Given the description of an element on the screen output the (x, y) to click on. 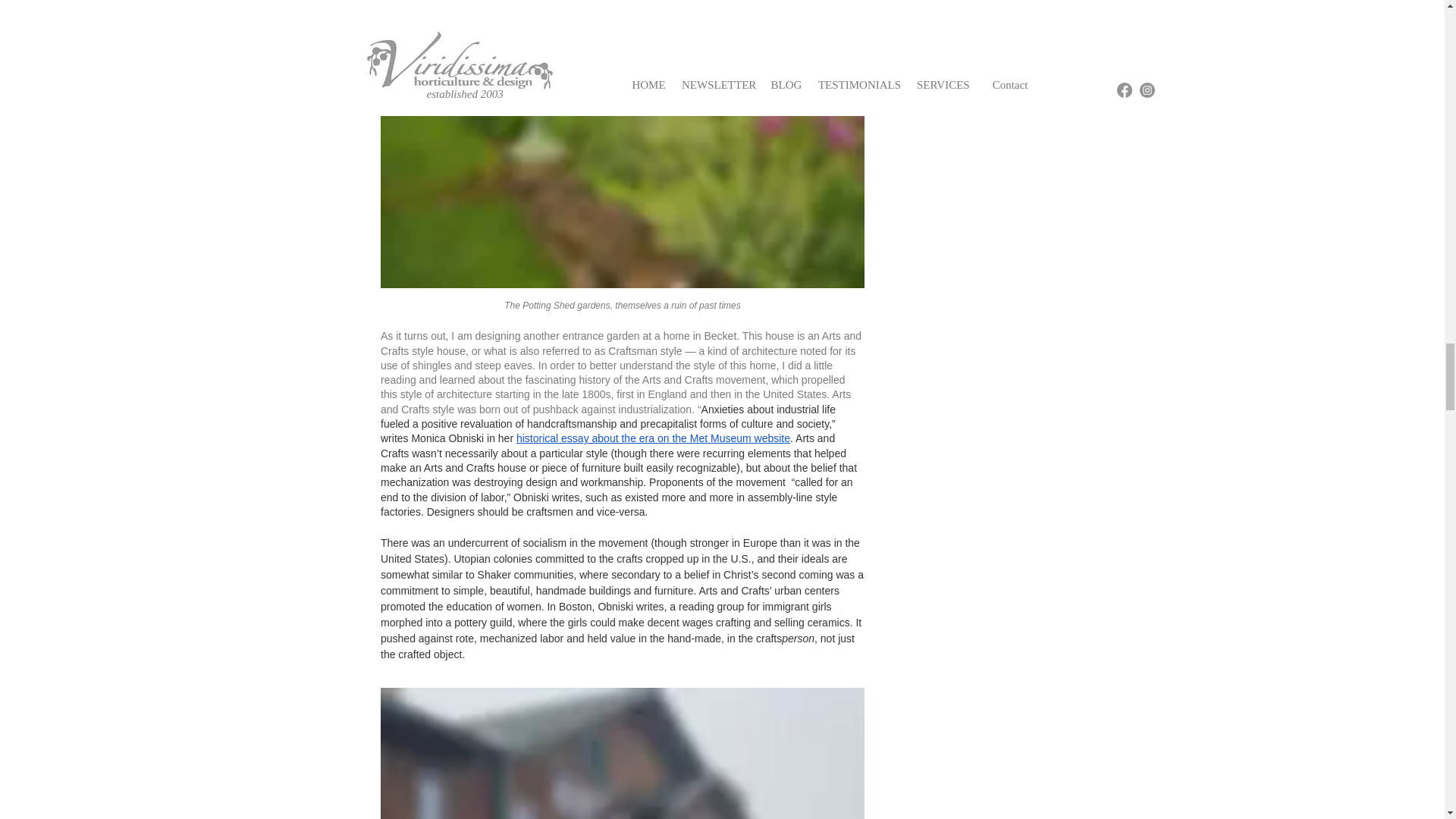
historical essay about the era on the Met Museum website (652, 438)
